Given the description of an element on the screen output the (x, y) to click on. 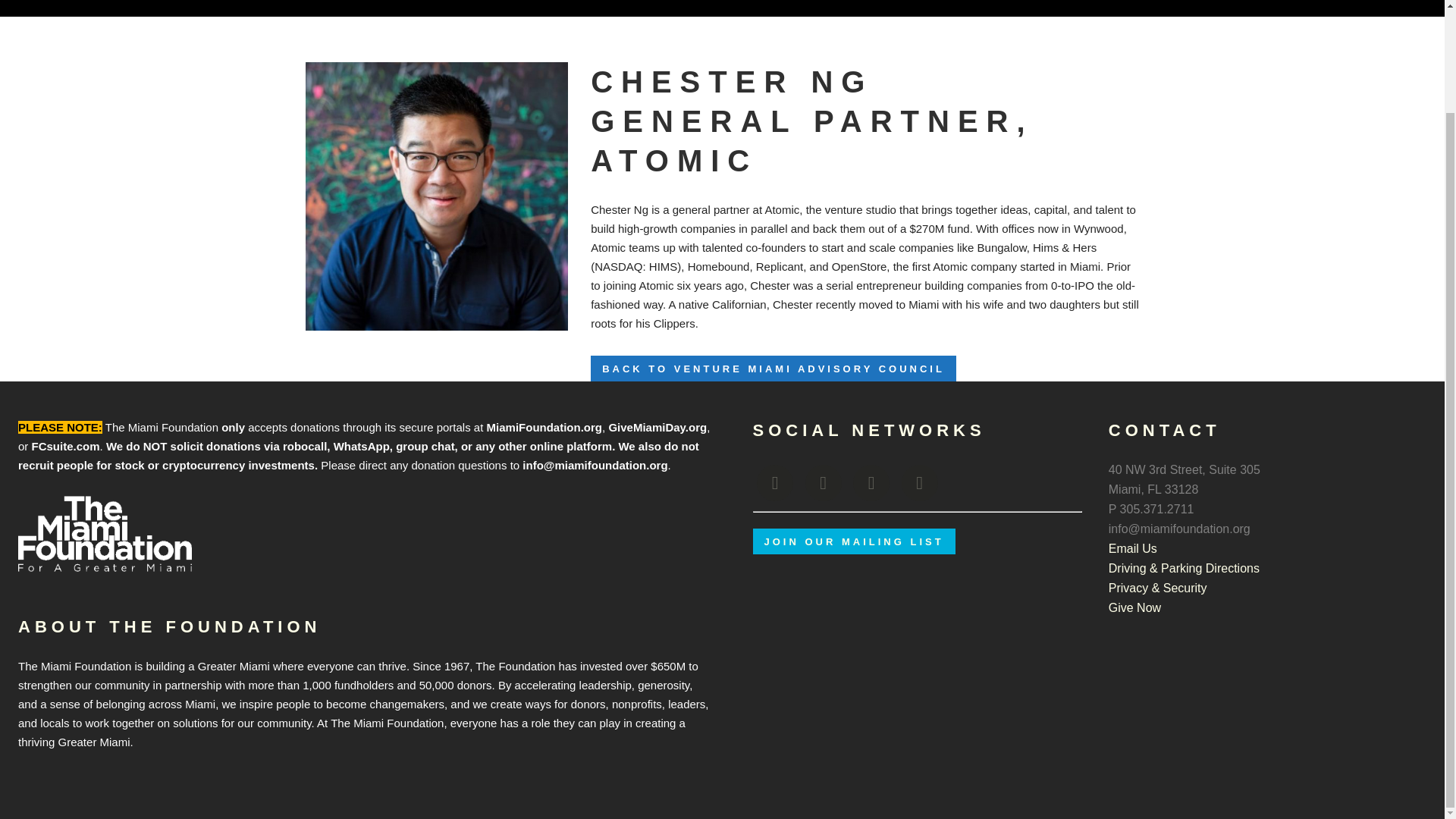
Chester (435, 196)
